Given the description of an element on the screen output the (x, y) to click on. 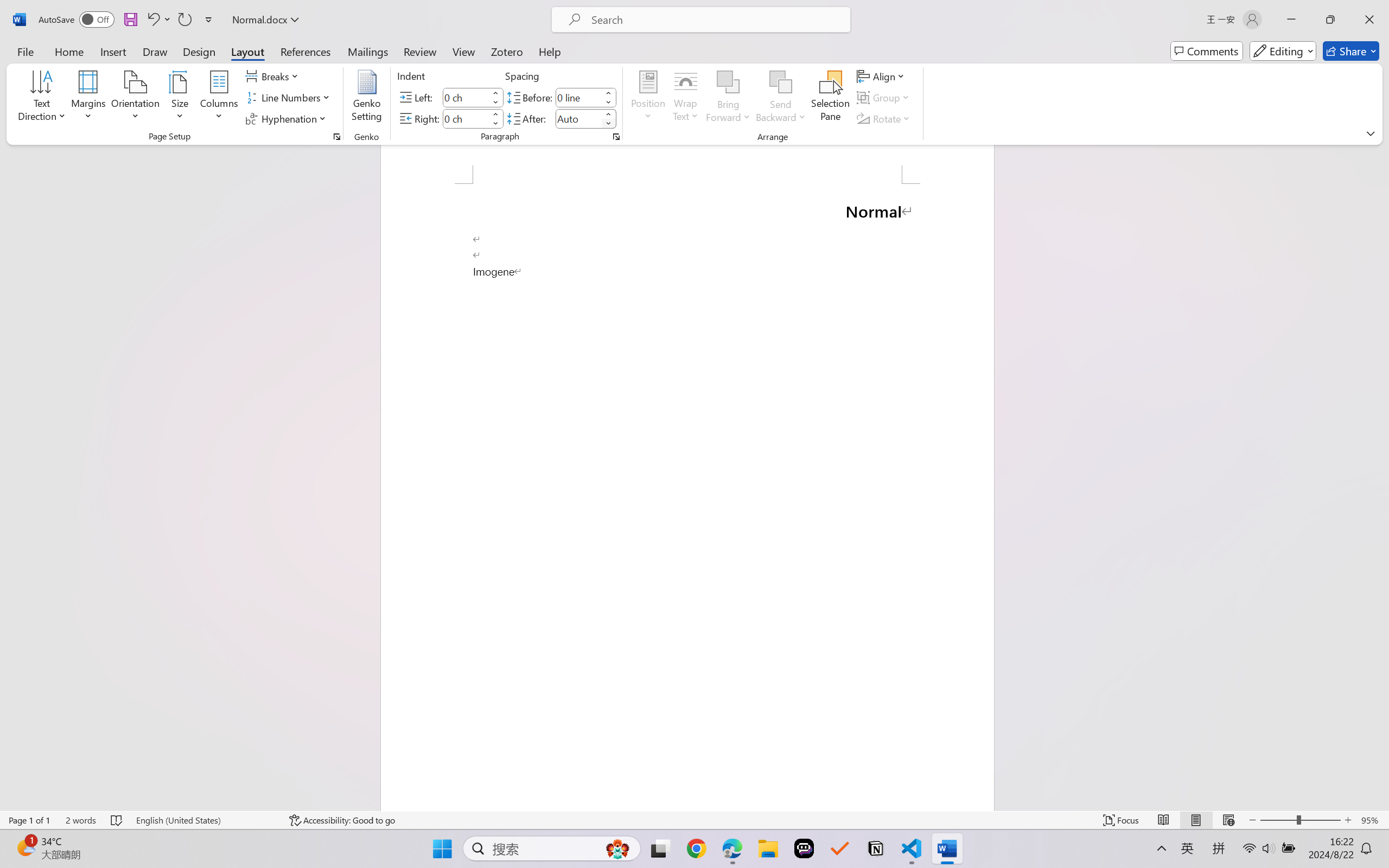
Zoom 95% (1372, 819)
Selection Pane... (830, 97)
Text Direction (42, 97)
Bring Forward (728, 81)
Position (647, 97)
Size (180, 97)
Undo Paragraph Formatting (158, 19)
